Given the description of an element on the screen output the (x, y) to click on. 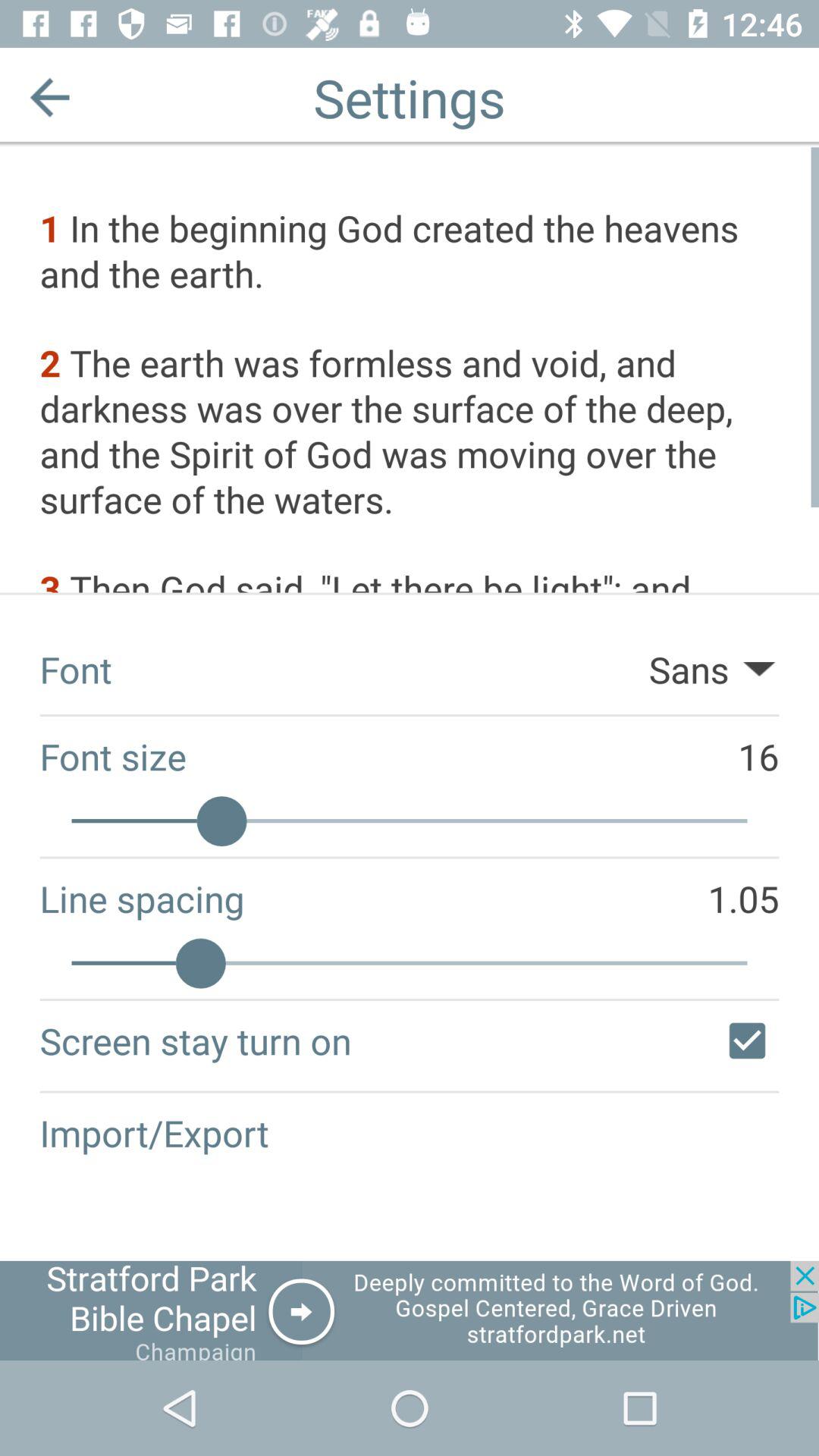
see advertisement (409, 1310)
